Given the description of an element on the screen output the (x, y) to click on. 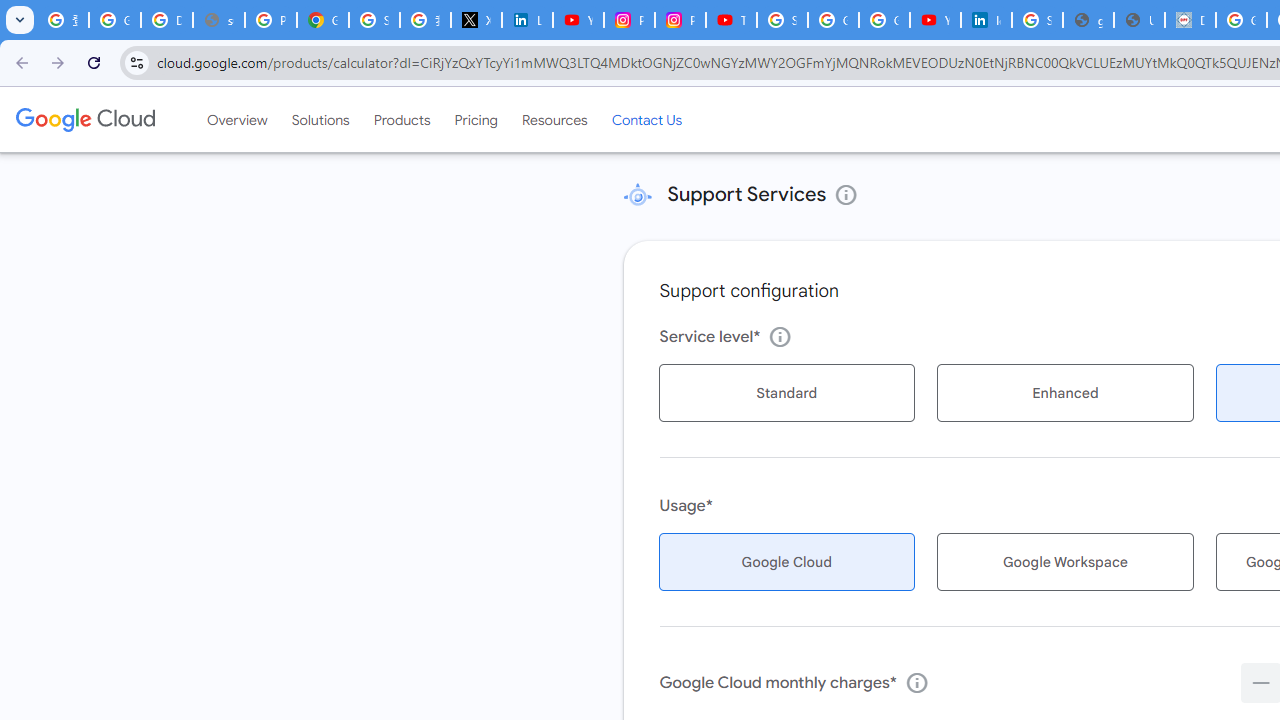
Pricing (476, 119)
Resources (553, 119)
LinkedIn Privacy Policy (526, 20)
support.google.com - Network error (218, 20)
Support Services (637, 194)
Sign in - Google Accounts (781, 20)
